Given the description of an element on the screen output the (x, y) to click on. 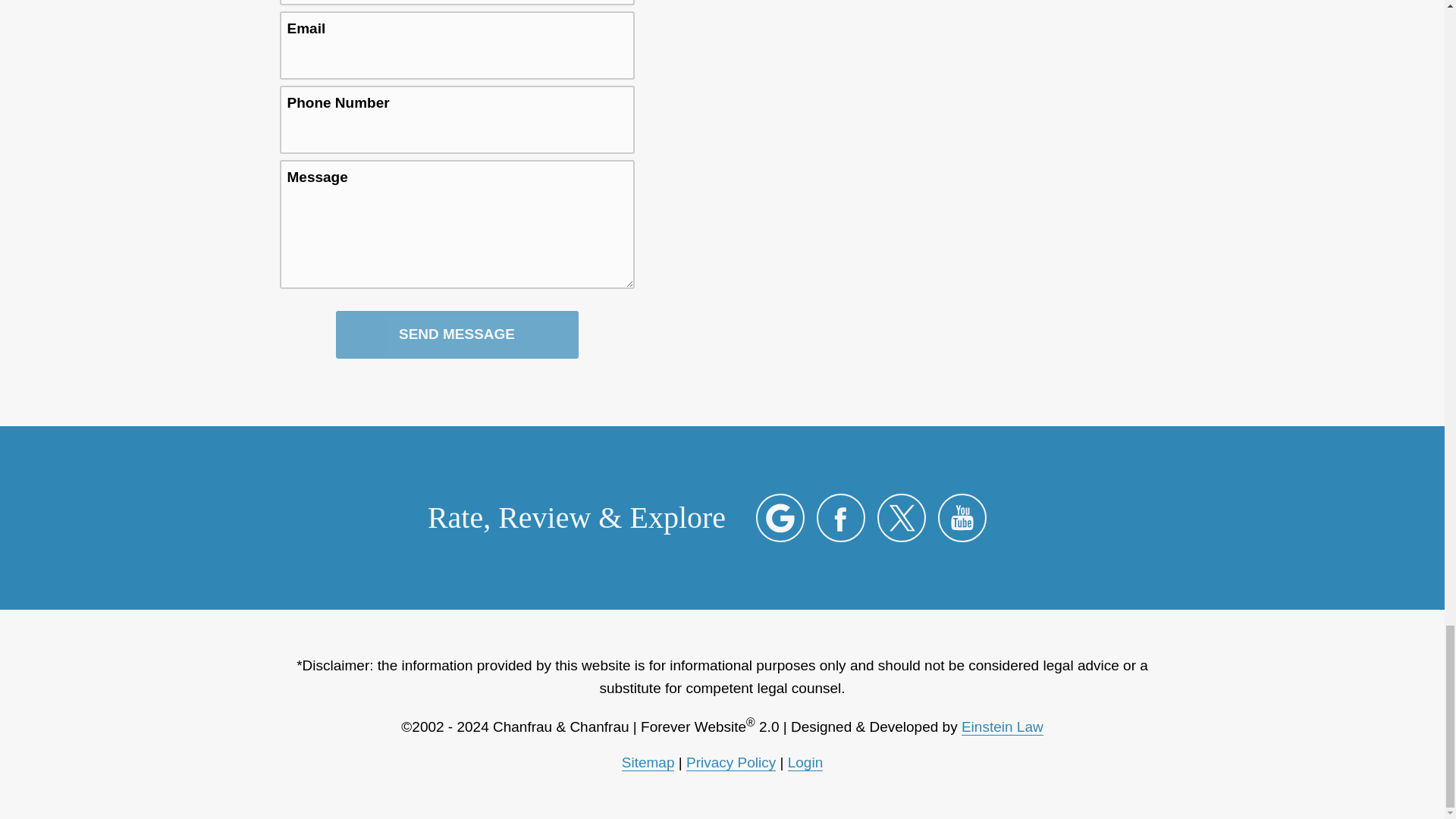
Einstein Law (1001, 727)
SEND MESSAGE (456, 334)
YouTube (962, 517)
Google (780, 517)
Twitter (901, 517)
Facebook (840, 517)
